Given the description of an element on the screen output the (x, y) to click on. 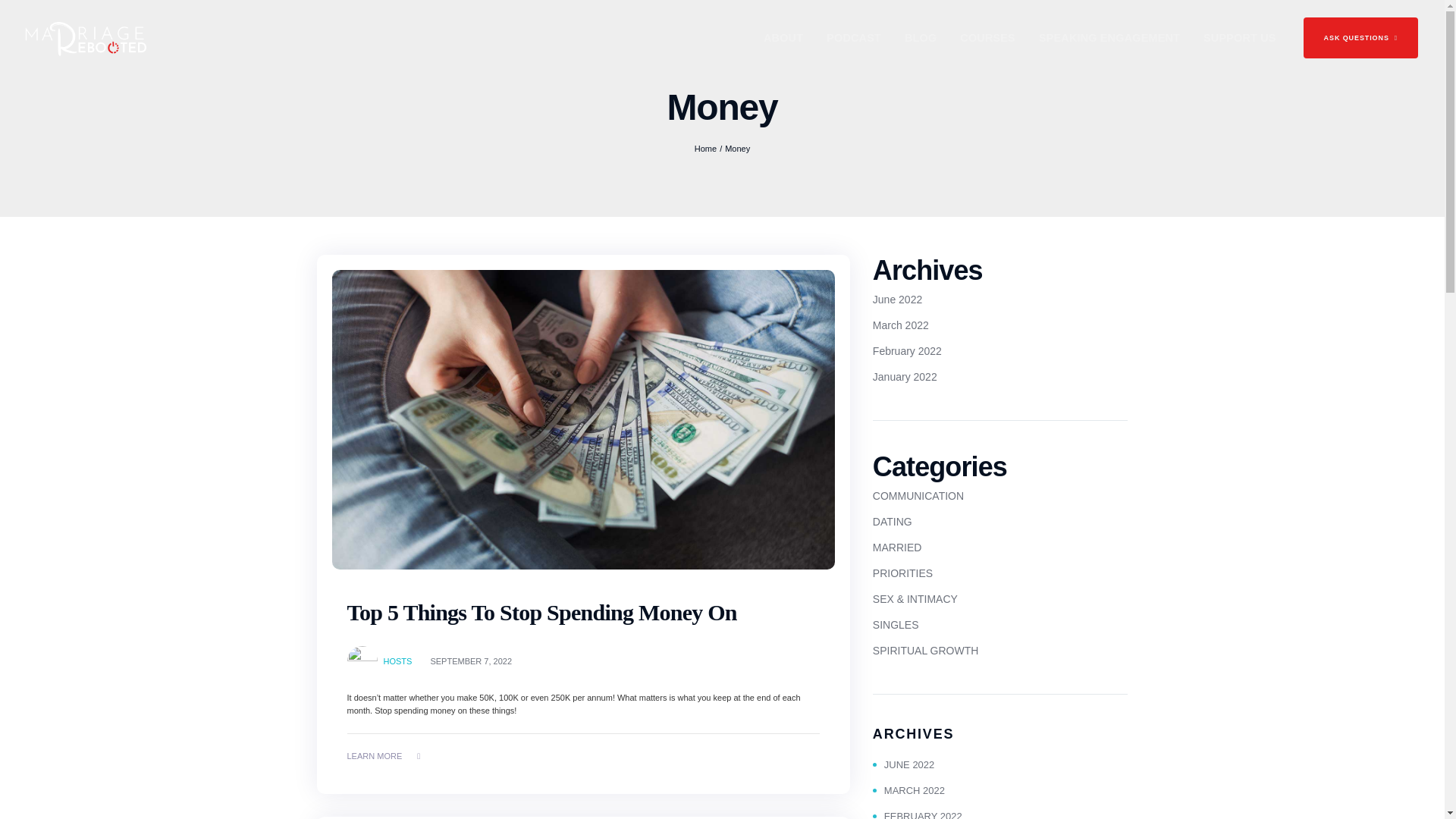
SINGLES (895, 624)
Money (737, 148)
COMMUNICATION (917, 495)
March 2022 (900, 325)
SUPPORT US (1240, 37)
MARRIED (896, 547)
HOSTS (398, 660)
SPIRITUAL GROWTH (925, 650)
DATING (892, 521)
ASK QUESTIONS (1360, 37)
MARCH 2022 (908, 790)
Top 5 Things To Stop Spending Money On (541, 611)
June 2022 (896, 299)
PODCAST (853, 37)
PRIORITIES (902, 573)
